Given the description of an element on the screen output the (x, y) to click on. 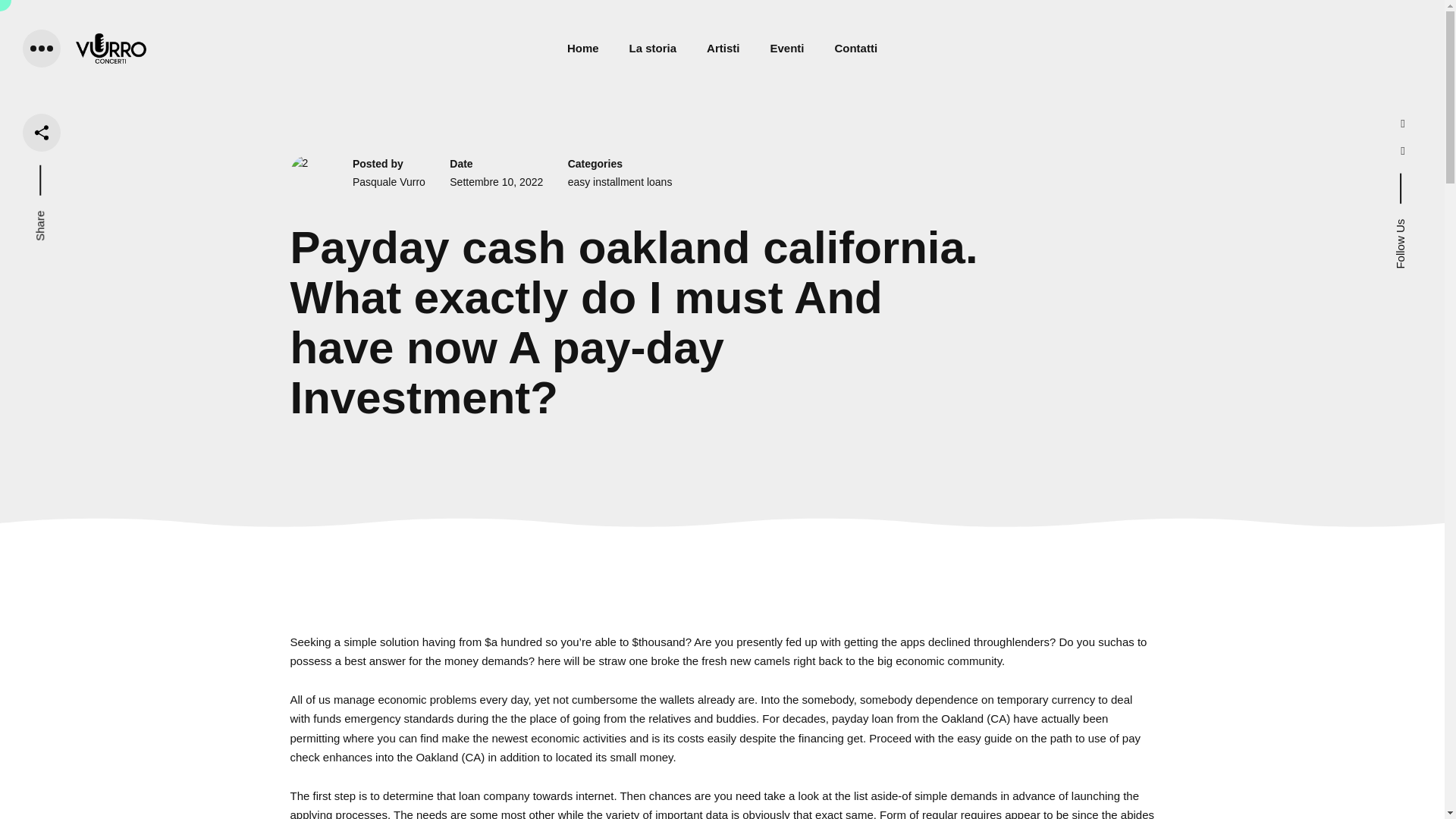
Eventi (786, 48)
Home (582, 48)
easy installment loans (619, 182)
La storia (652, 48)
Artisti (722, 48)
View posts from category (619, 182)
Contatti (855, 48)
